Given the description of an element on the screen output the (x, y) to click on. 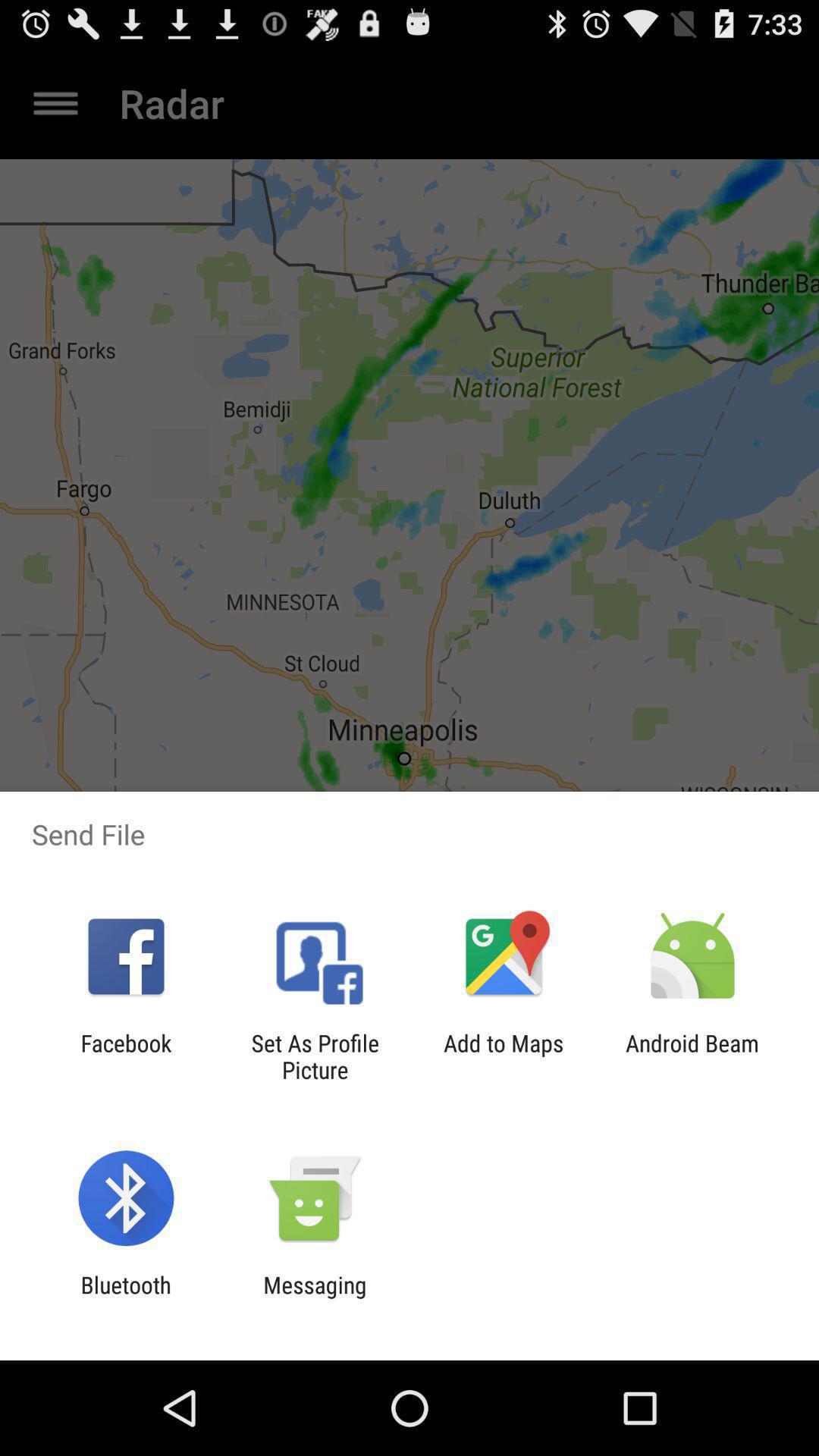
click item to the left of android beam (503, 1056)
